Given the description of an element on the screen output the (x, y) to click on. 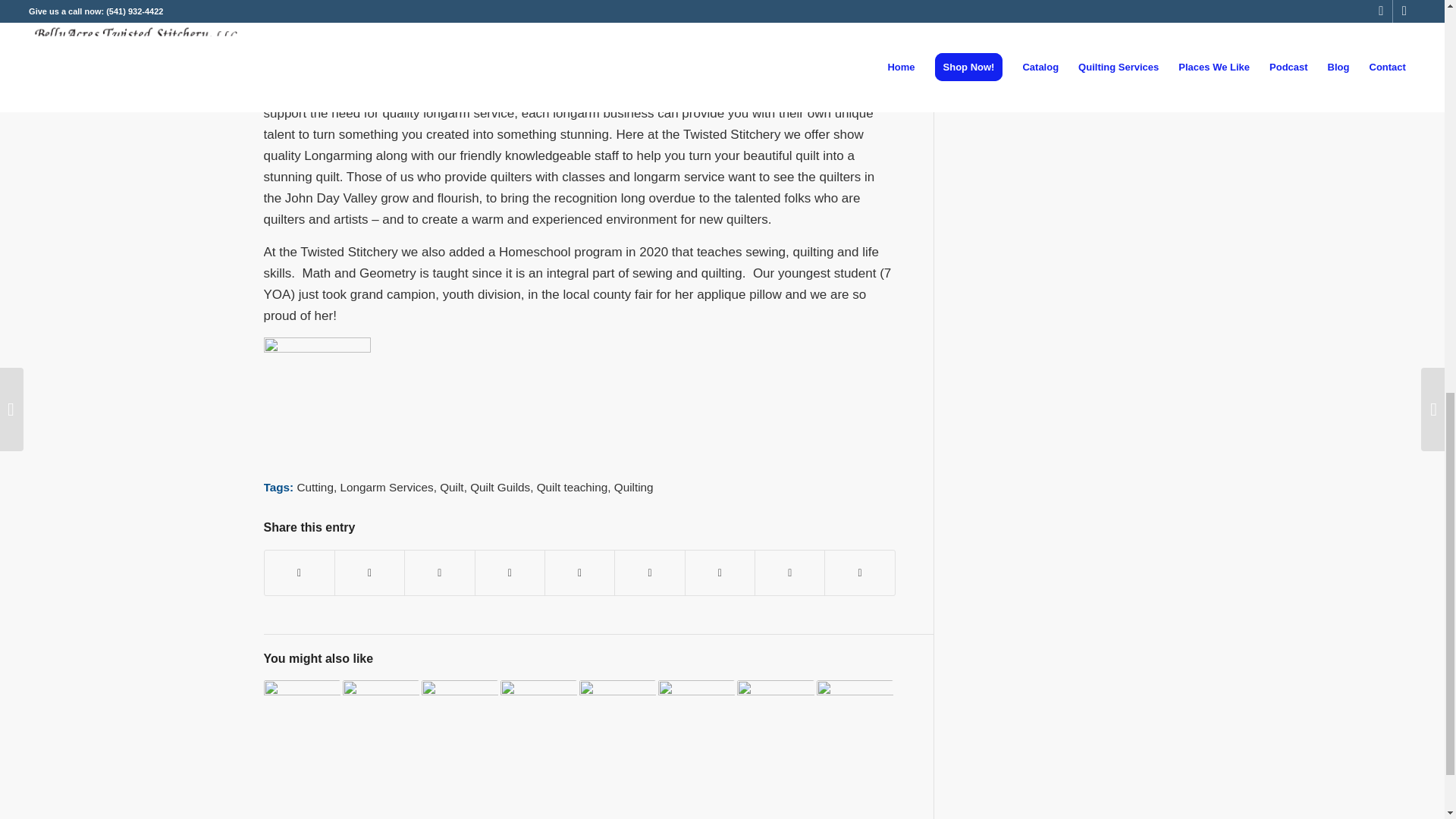
Cutting (315, 486)
Quilting (633, 486)
Longarm Services (385, 486)
Quilt teaching (572, 486)
Quilt (451, 486)
Quilt Guilds (499, 486)
